Given the description of an element on the screen output the (x, y) to click on. 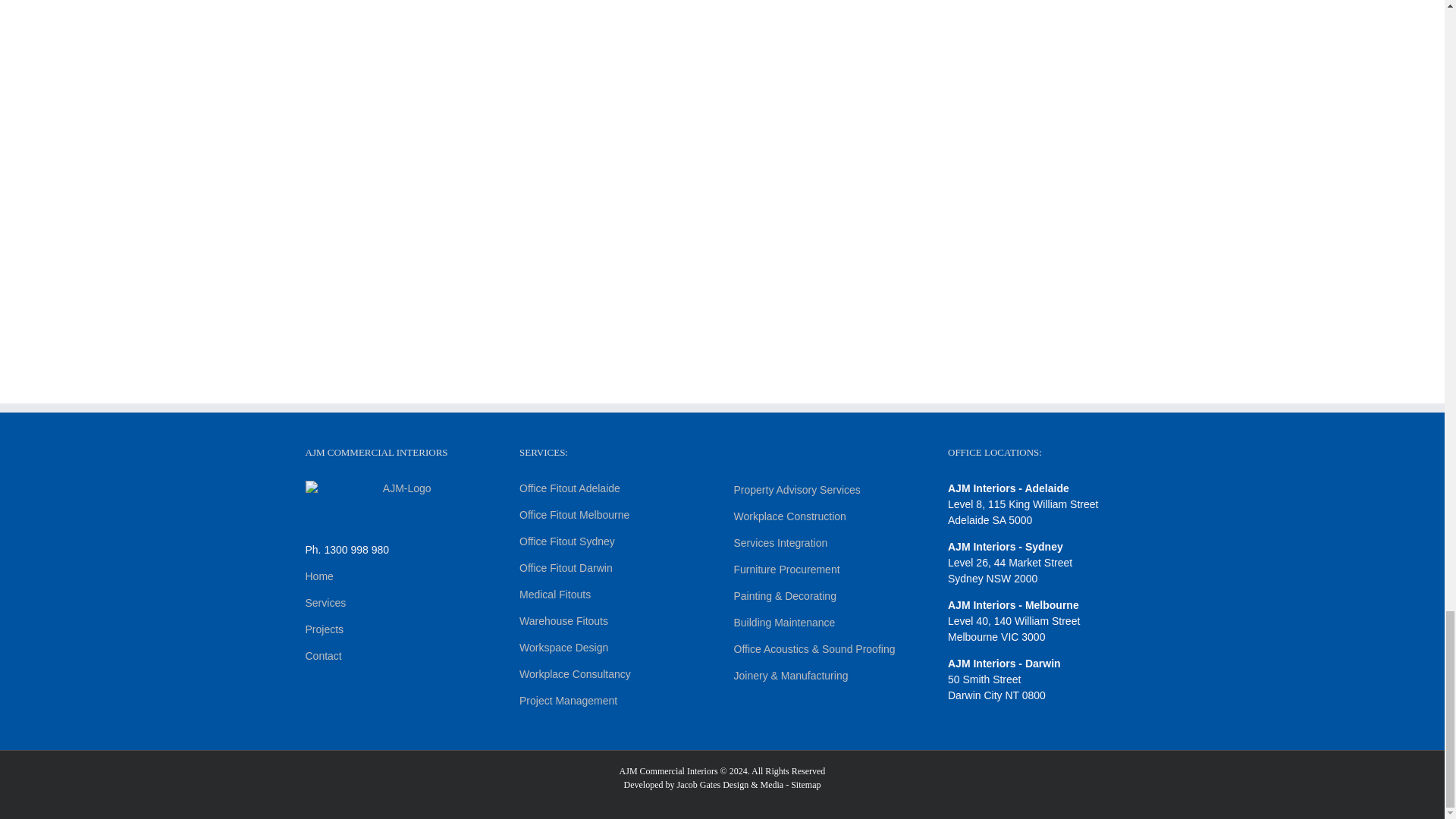
Warehouse Fitouts (563, 621)
Office Fitout Adelaide (569, 488)
Services (325, 603)
Office Fitout Melbourne (573, 514)
Medical Fitouts (555, 594)
Send (927, 273)
Projects (323, 629)
Office Fitout Sydney (566, 541)
Workspace Design (563, 647)
Office Fitout Darwin (565, 567)
